Given the description of an element on the screen output the (x, y) to click on. 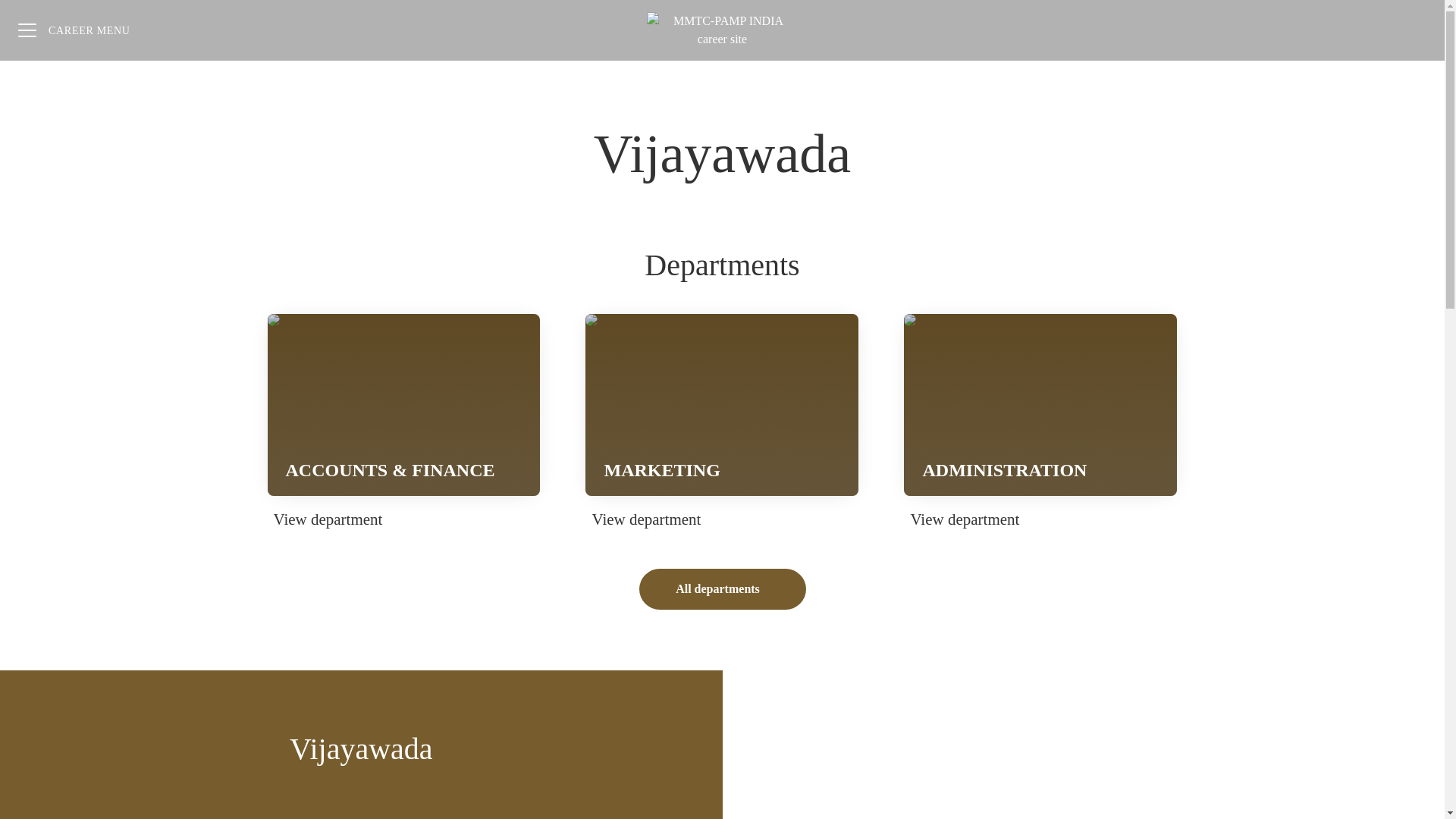
All departments (722, 588)
Share page (722, 422)
CAREER MENU (1414, 30)
Career menu (1040, 422)
